Given the description of an element on the screen output the (x, y) to click on. 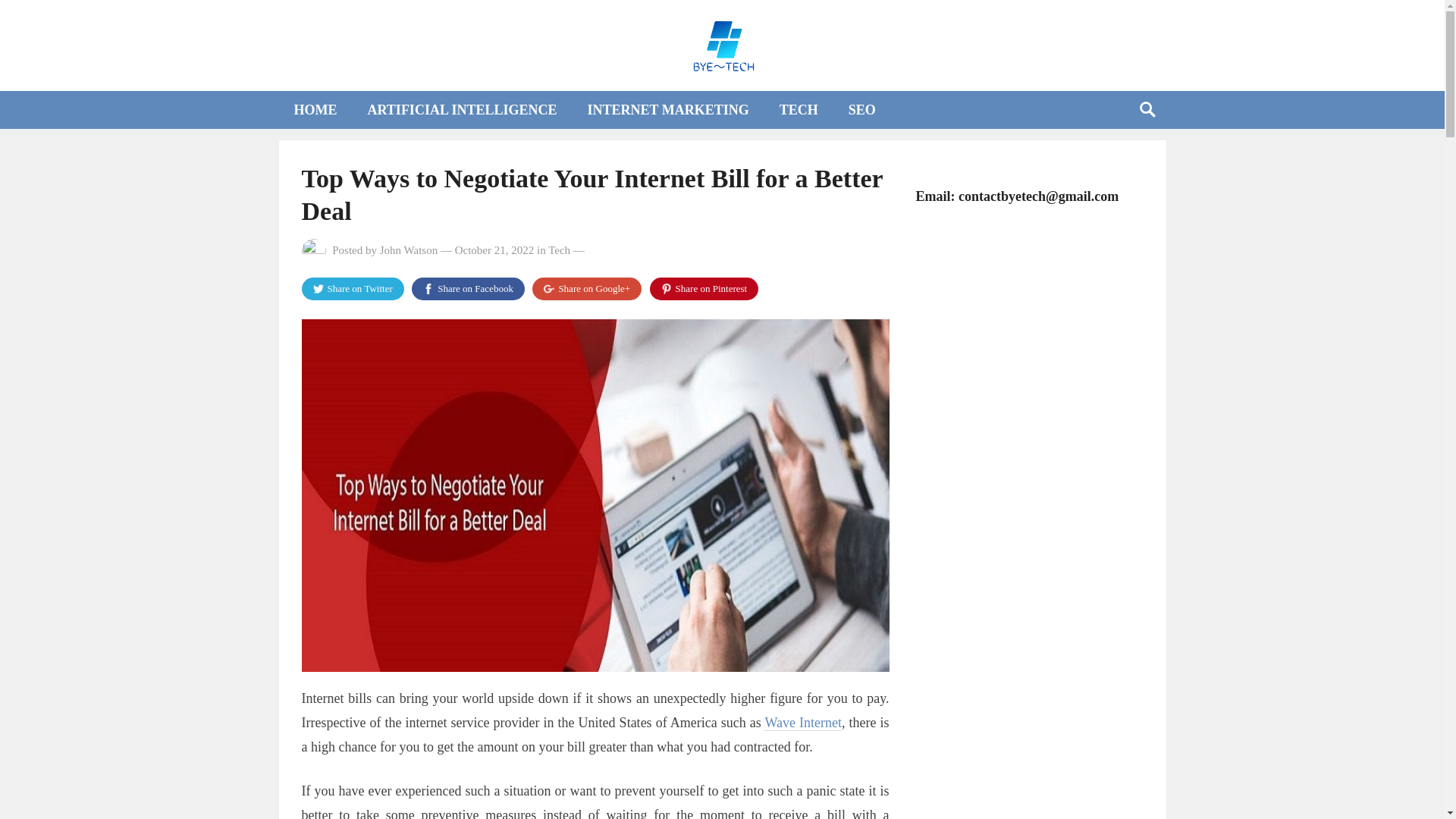
SEO (861, 109)
John Watson (409, 250)
HOME (315, 109)
ARTIFICIAL INTELLIGENCE (462, 109)
Wave Internet (802, 722)
INTERNET MARKETING (667, 109)
Tech (559, 250)
Share on Facebook (468, 288)
Share on Twitter (352, 288)
View all posts in Tech (559, 250)
